Given the description of an element on the screen output the (x, y) to click on. 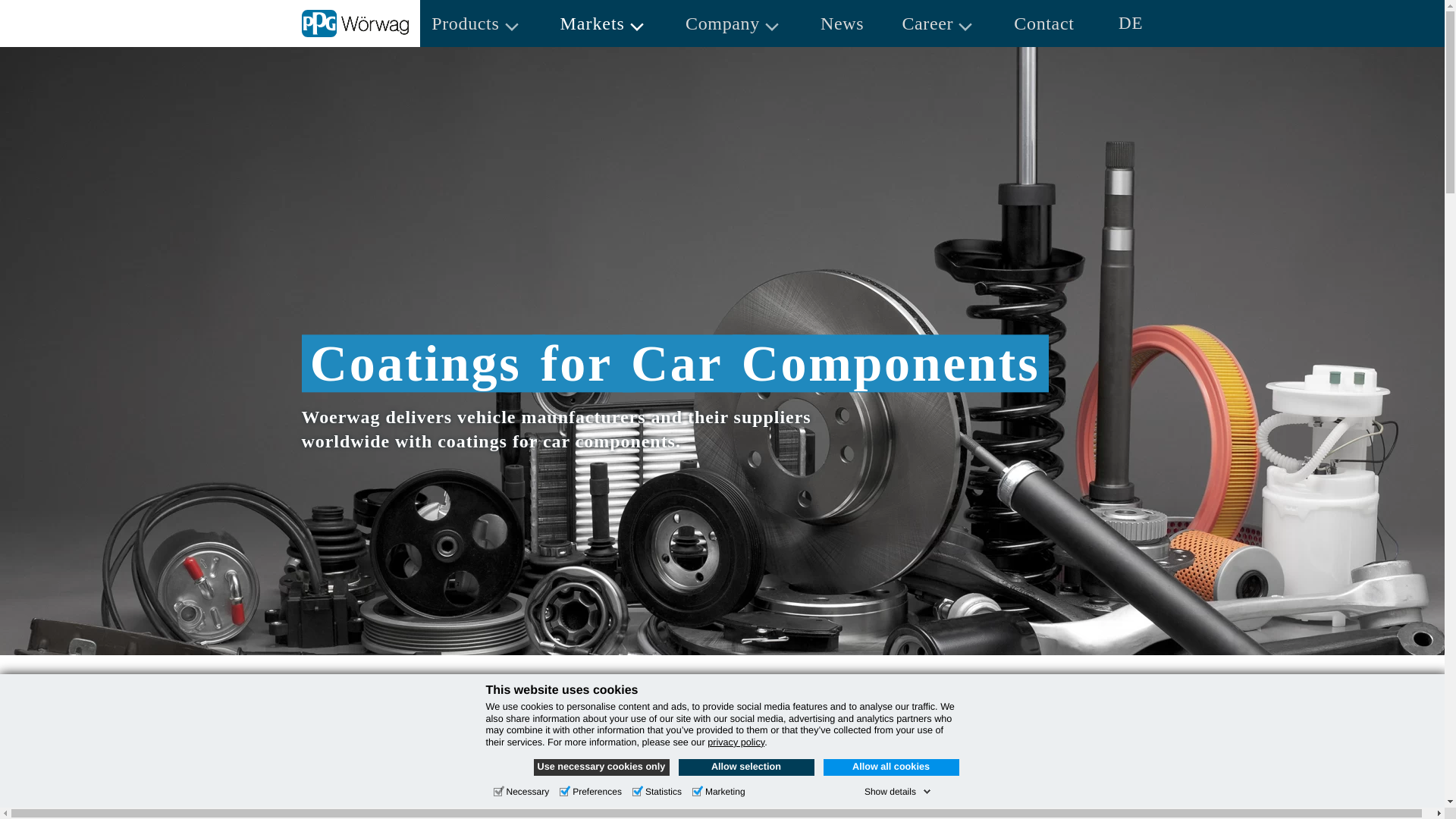
Allow all cookies (891, 767)
privacy policy (735, 742)
Use necessary cookies only (601, 767)
Allow selection (745, 767)
Show details (897, 791)
